Given the description of an element on the screen output the (x, y) to click on. 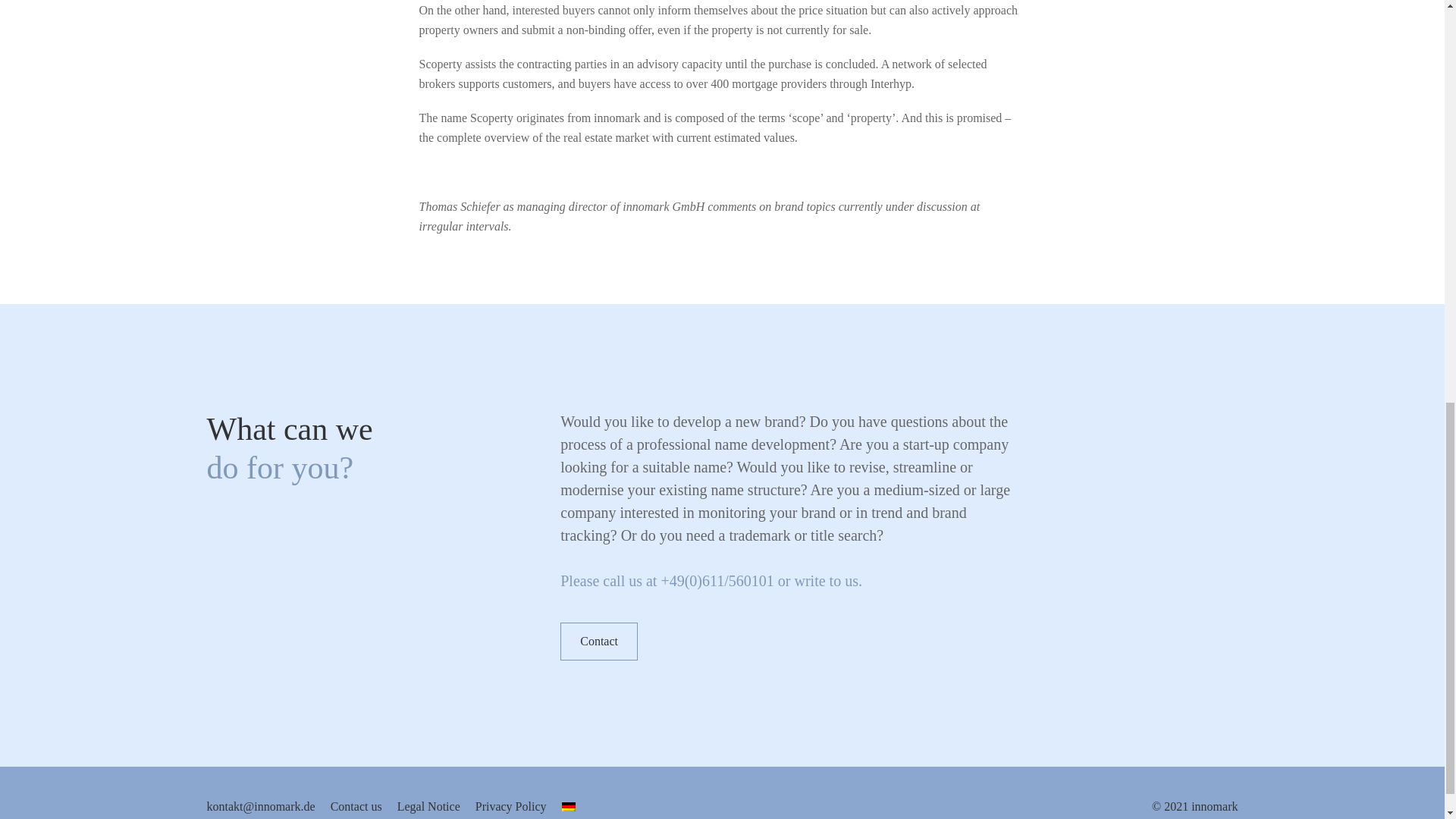
Contact us (355, 806)
Contact (598, 641)
Legal Notice (428, 806)
Privacy Policy (511, 806)
